Given the description of an element on the screen output the (x, y) to click on. 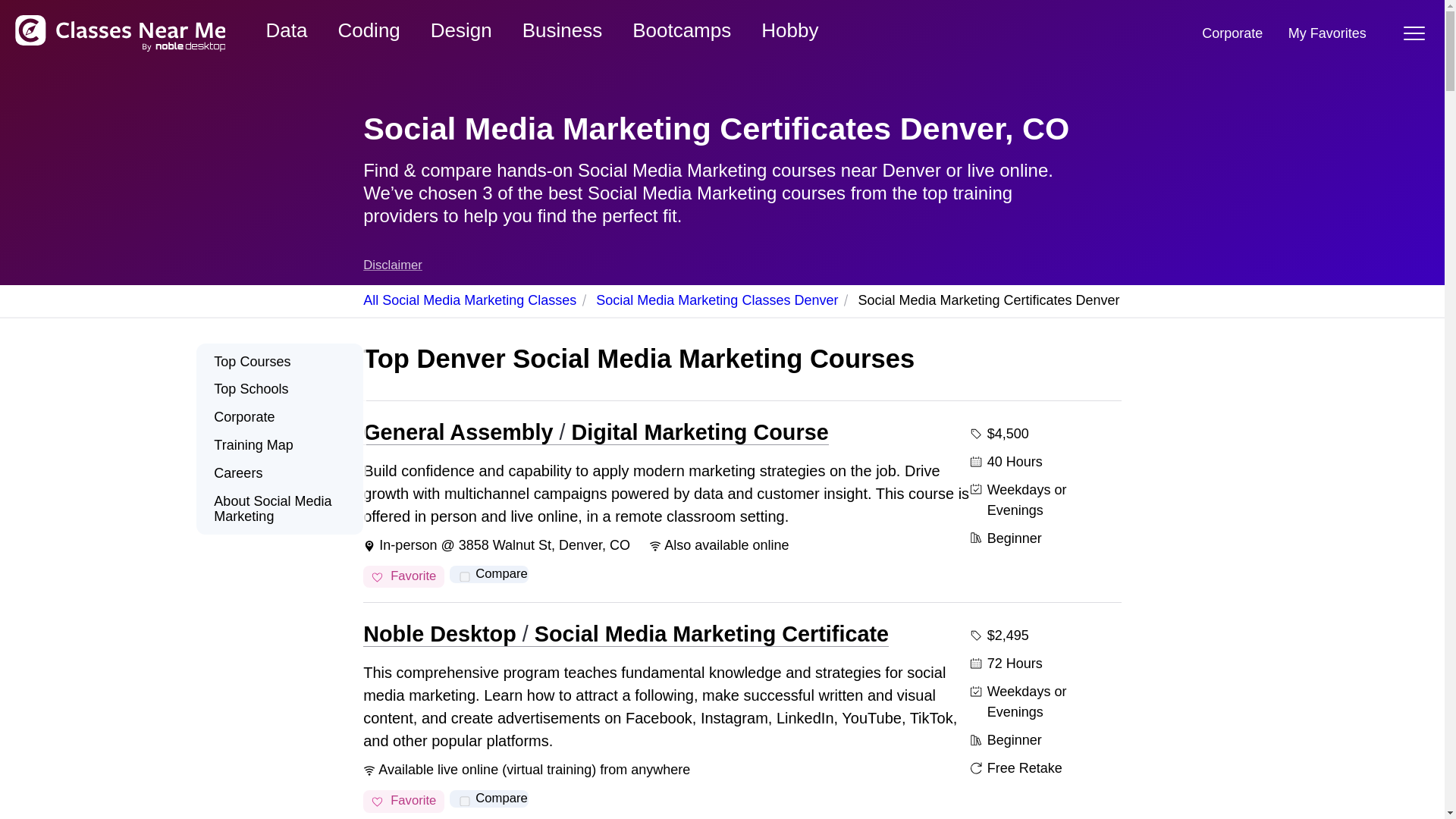
4644 (464, 800)
Data (286, 30)
4 (464, 576)
Coding (367, 30)
